Given the description of an element on the screen output the (x, y) to click on. 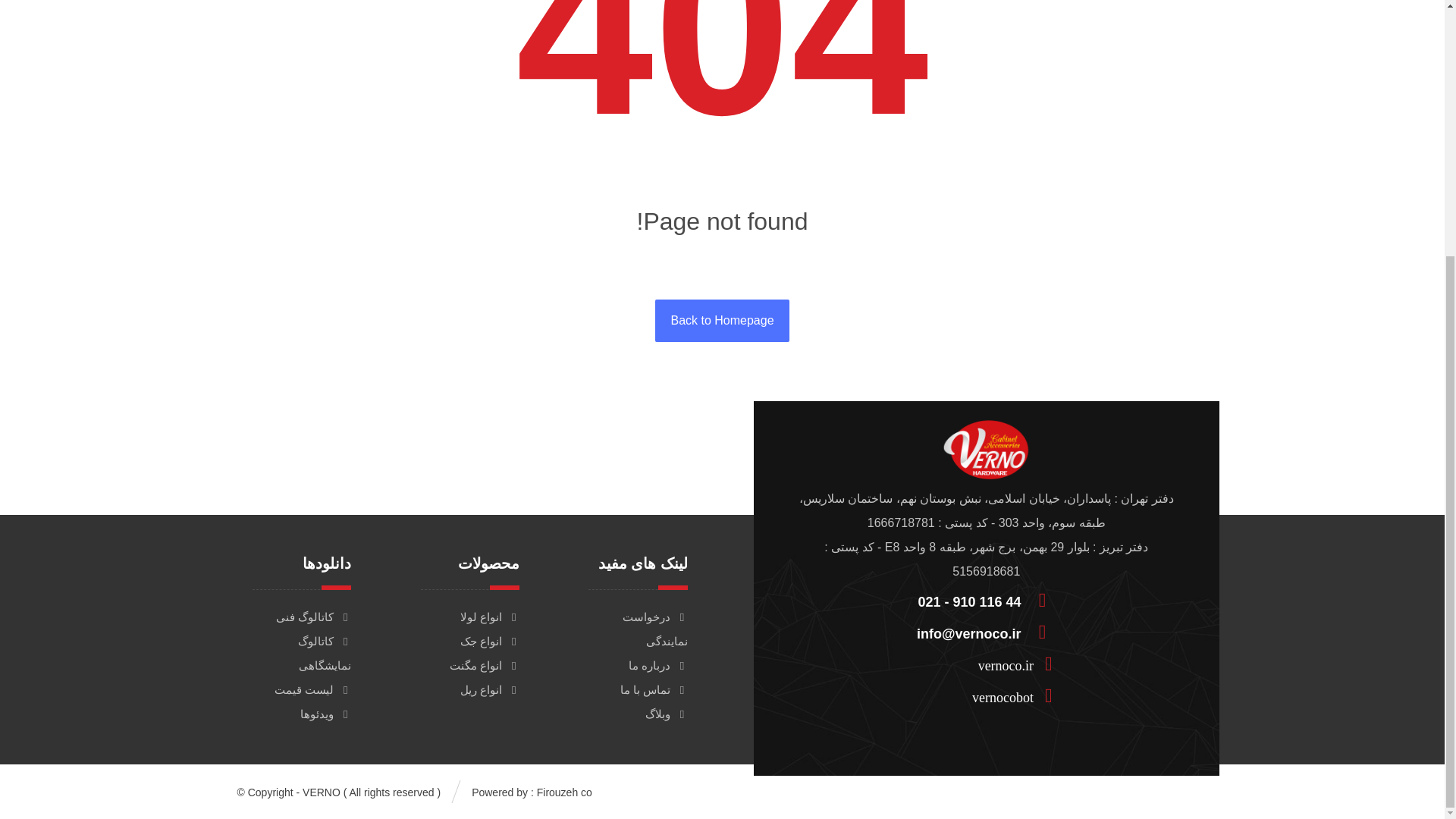
Back to Homepage (722, 320)
vernocobot (980, 694)
vernoco.ir (980, 663)
